Given the description of an element on the screen output the (x, y) to click on. 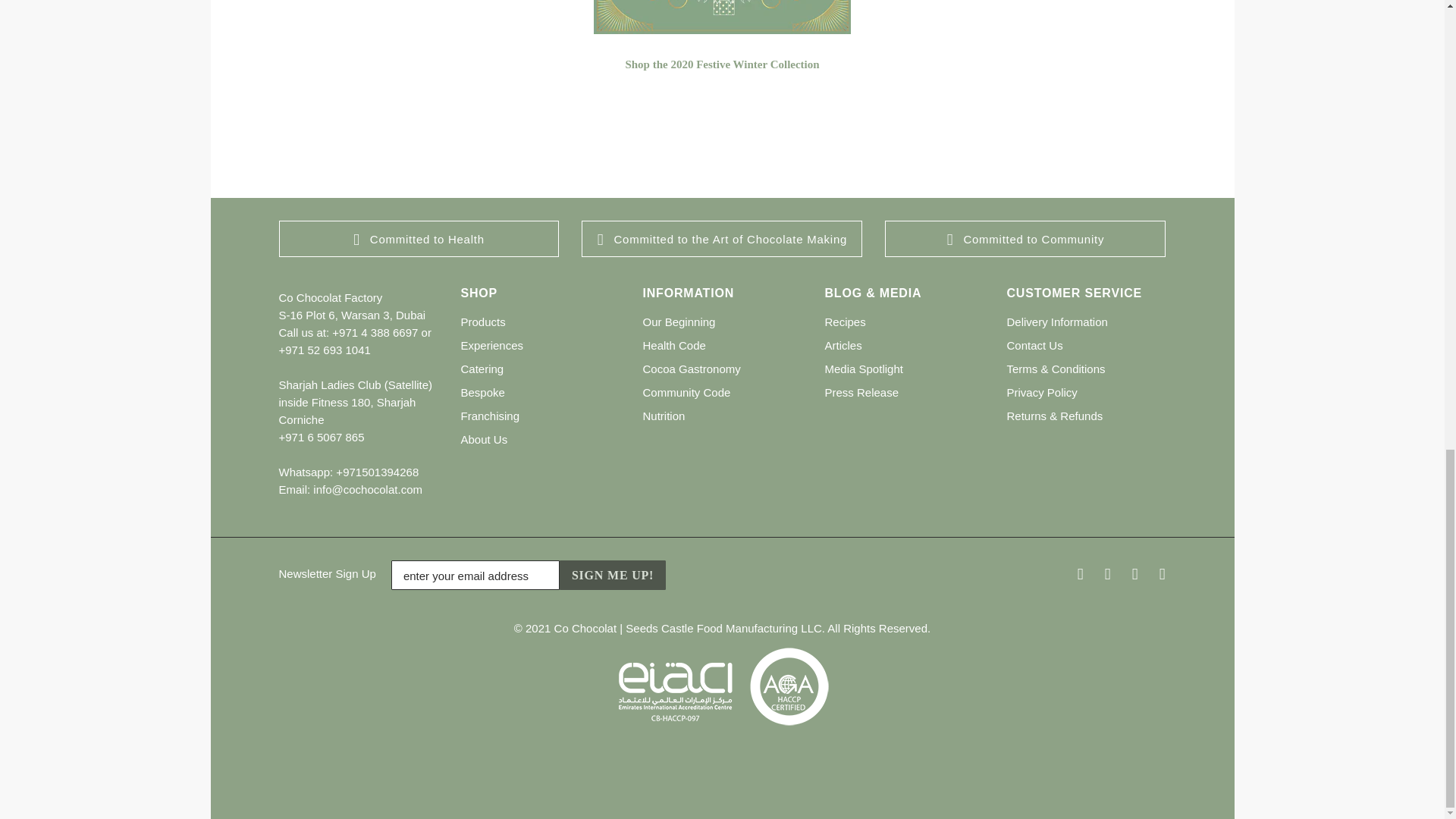
Sign me up! (612, 574)
